Given the description of an element on the screen output the (x, y) to click on. 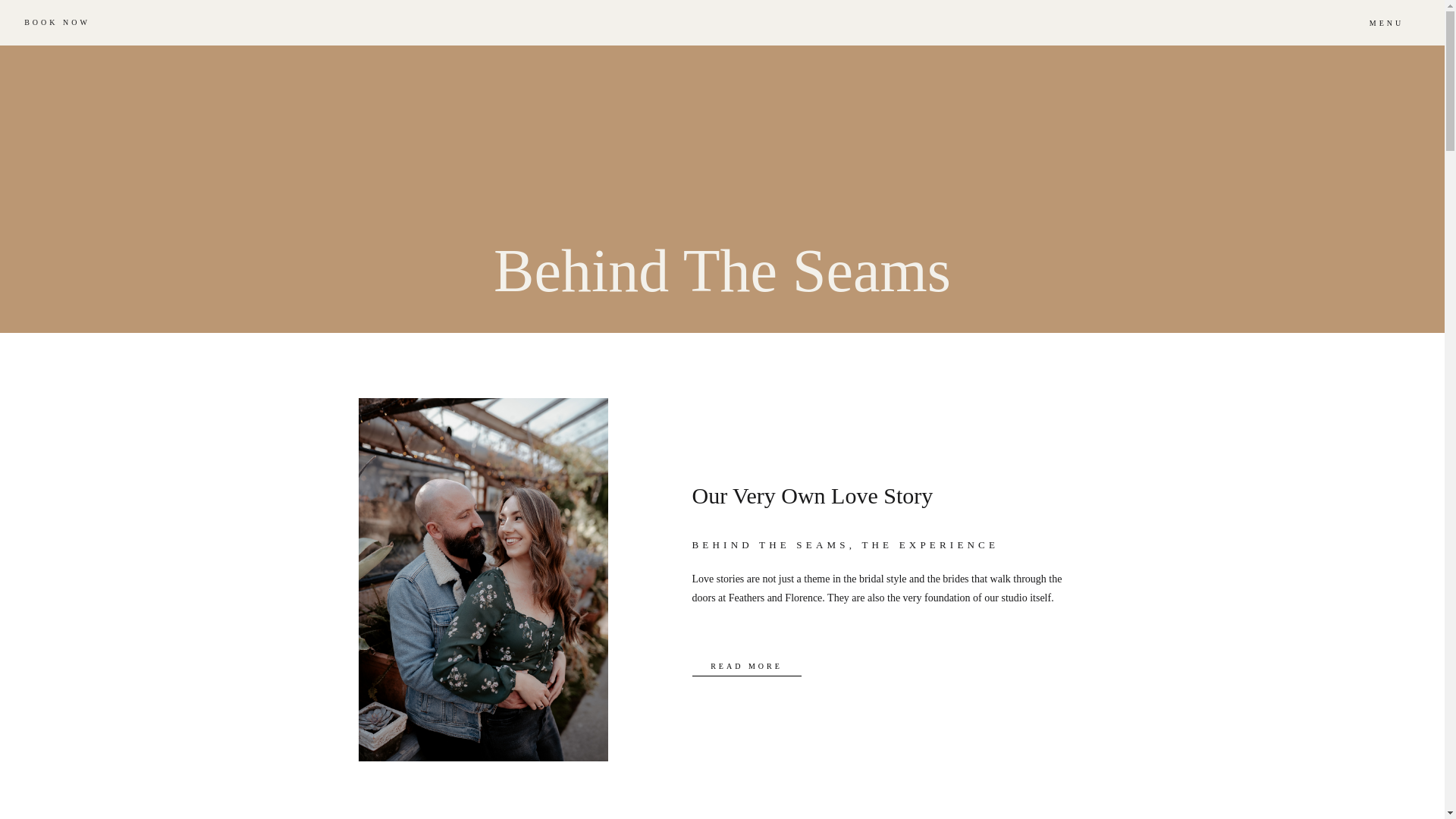
BEHIND THE SEAMS (769, 544)
Our Very Own Love Story (812, 495)
Our Very Own Love Story (745, 664)
READ MORE (745, 664)
THE EXPERIENCE (929, 544)
BOOK NOW (57, 21)
